Given the description of an element on the screen output the (x, y) to click on. 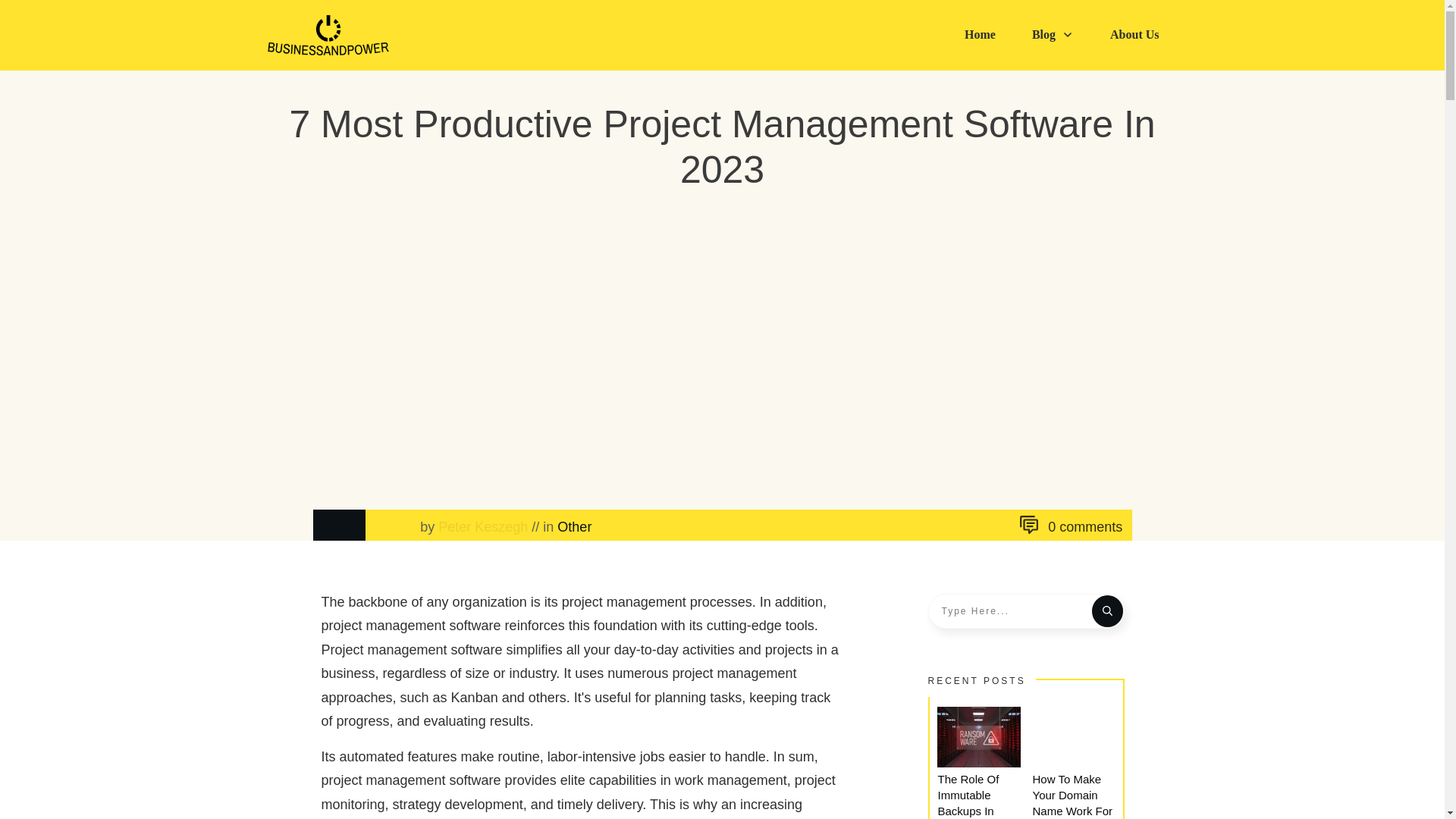
The Role Of Immutable Backups In Ransomware Defense (970, 796)
Other (574, 526)
How To Make Your Domain Name Work For Your Business (1072, 796)
Peter Keszegh (482, 526)
Blog (1053, 34)
Other (574, 526)
About Us (1133, 34)
Peter Keszegh (482, 526)
Home (979, 34)
